Given the description of an element on the screen output the (x, y) to click on. 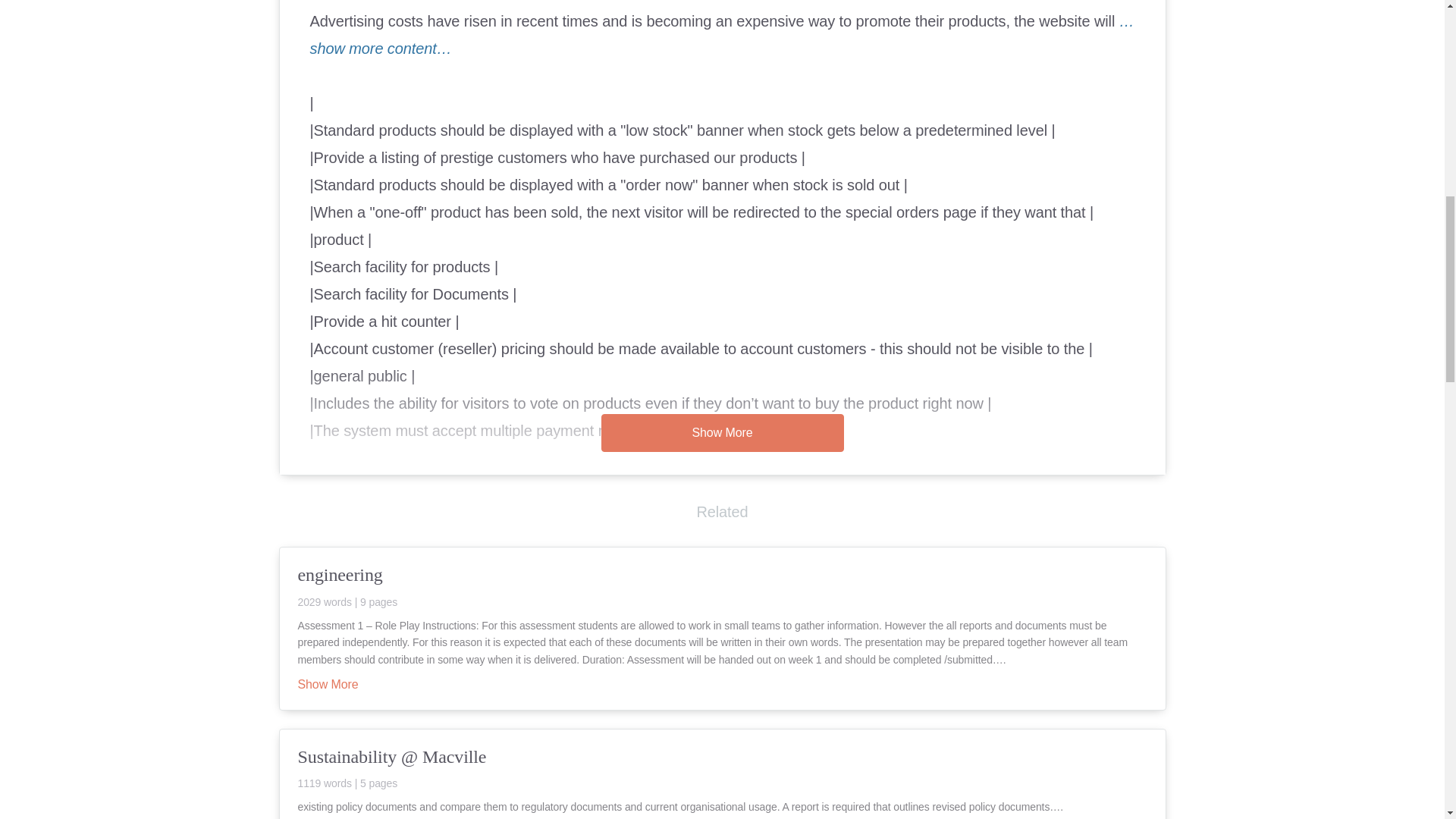
engineering (722, 585)
Show More (327, 685)
Show More (721, 433)
